Given the description of an element on the screen output the (x, y) to click on. 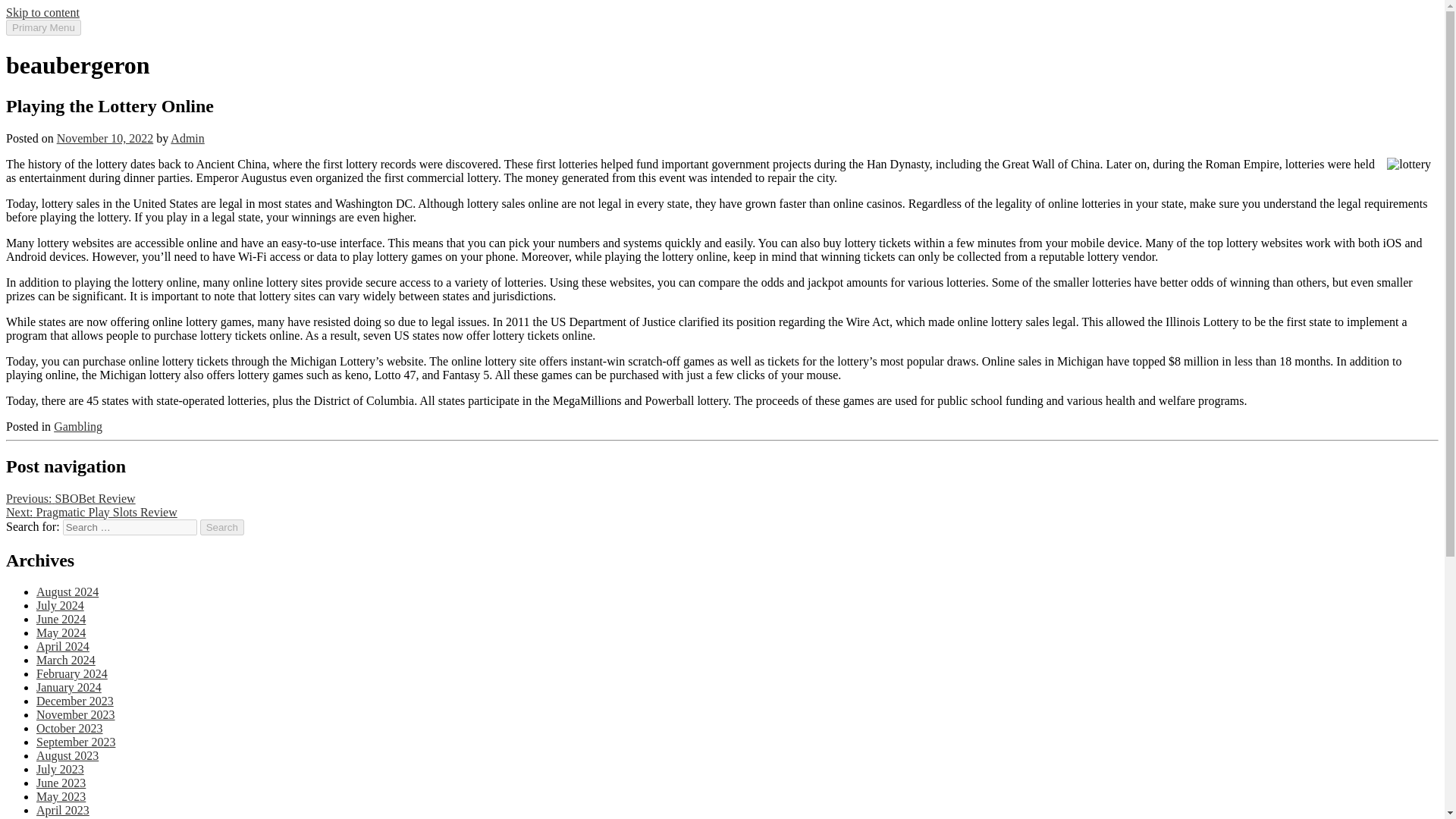
September 2023 (75, 741)
March 2023 (66, 818)
Gambling (77, 426)
October 2023 (69, 727)
May 2023 (60, 796)
November 2023 (75, 714)
Skip to content (42, 11)
Search (222, 527)
June 2024 (60, 618)
Next: Pragmatic Play Slots Review (91, 512)
